Given the description of an element on the screen output the (x, y) to click on. 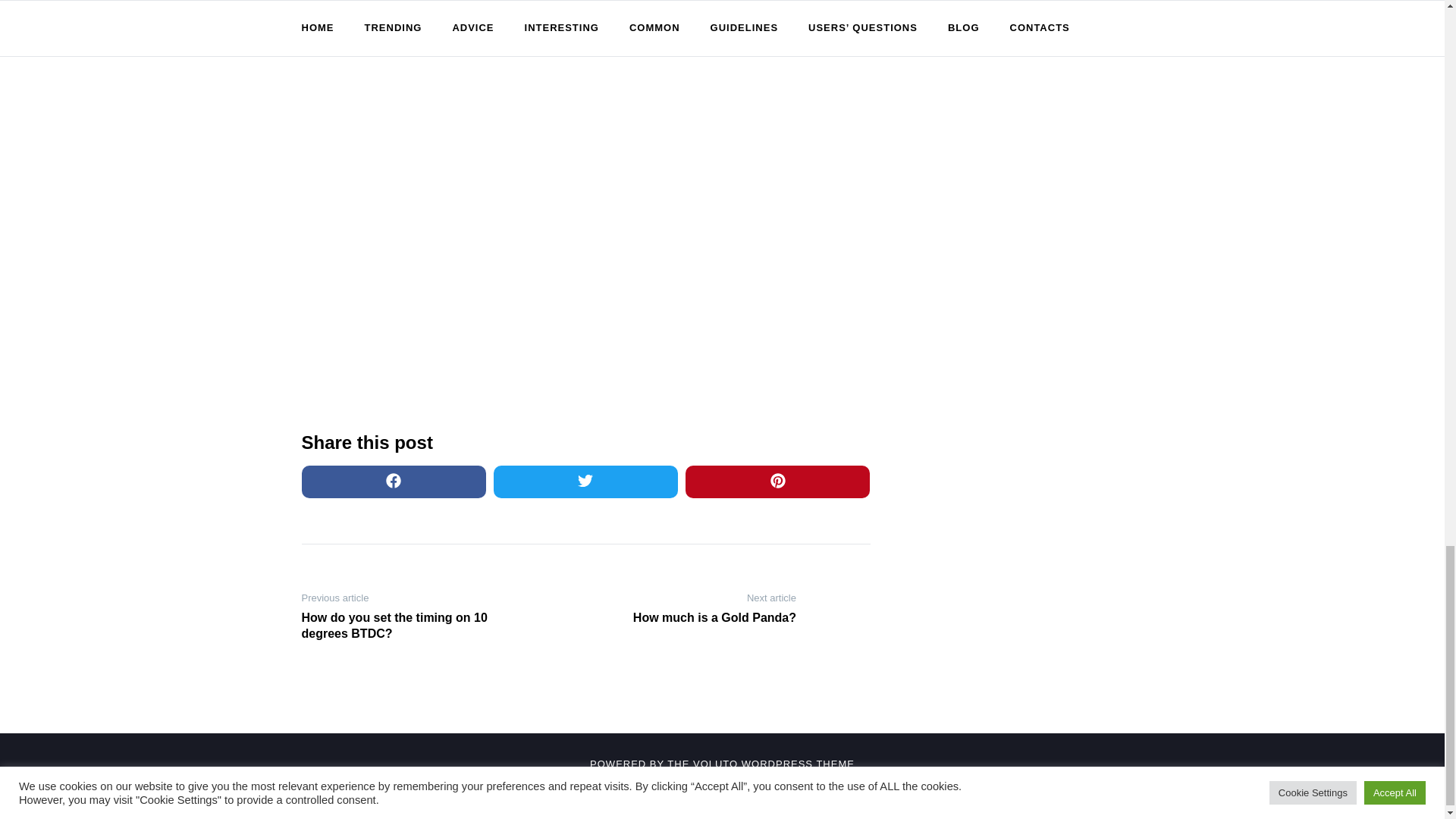
How do you set the timing on 10 degrees BTDC? (400, 626)
How much is a Gold Panda? (696, 618)
